Given the description of an element on the screen output the (x, y) to click on. 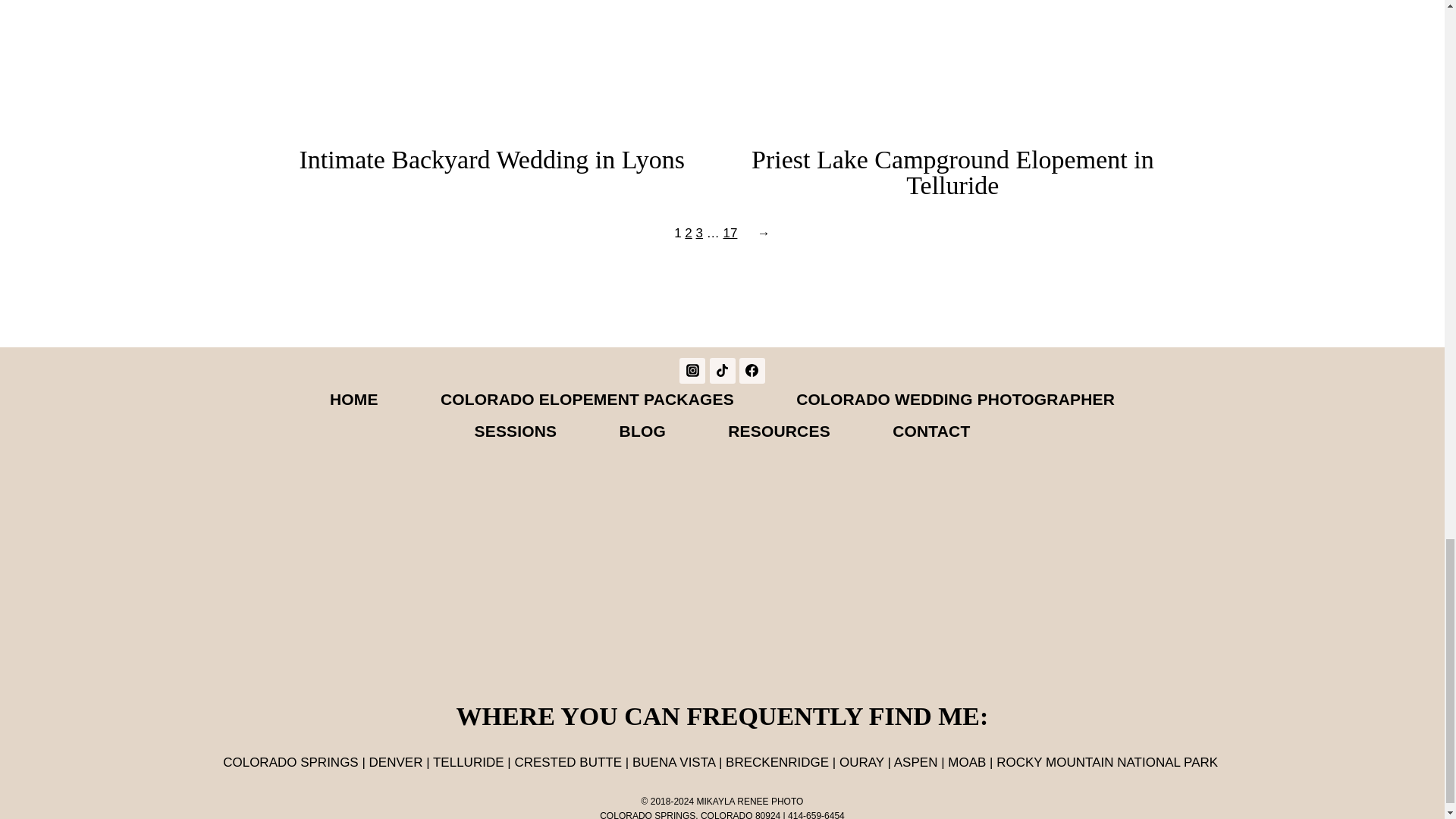
BLOG (642, 431)
COLORADO WEDDING PHOTOGRAPHER (955, 399)
COLORADO ELOPEMENT PACKAGES (587, 399)
17 (729, 233)
TELLURIDE (467, 762)
HOME (353, 399)
SESSIONS (515, 431)
3 (699, 233)
2 (687, 233)
Intimate Backyard Wedding in Lyons (491, 159)
CONTACT (931, 431)
RESOURCES (779, 431)
Priest Lake Campground Elopement in Telluride (952, 173)
